Given the description of an element on the screen output the (x, y) to click on. 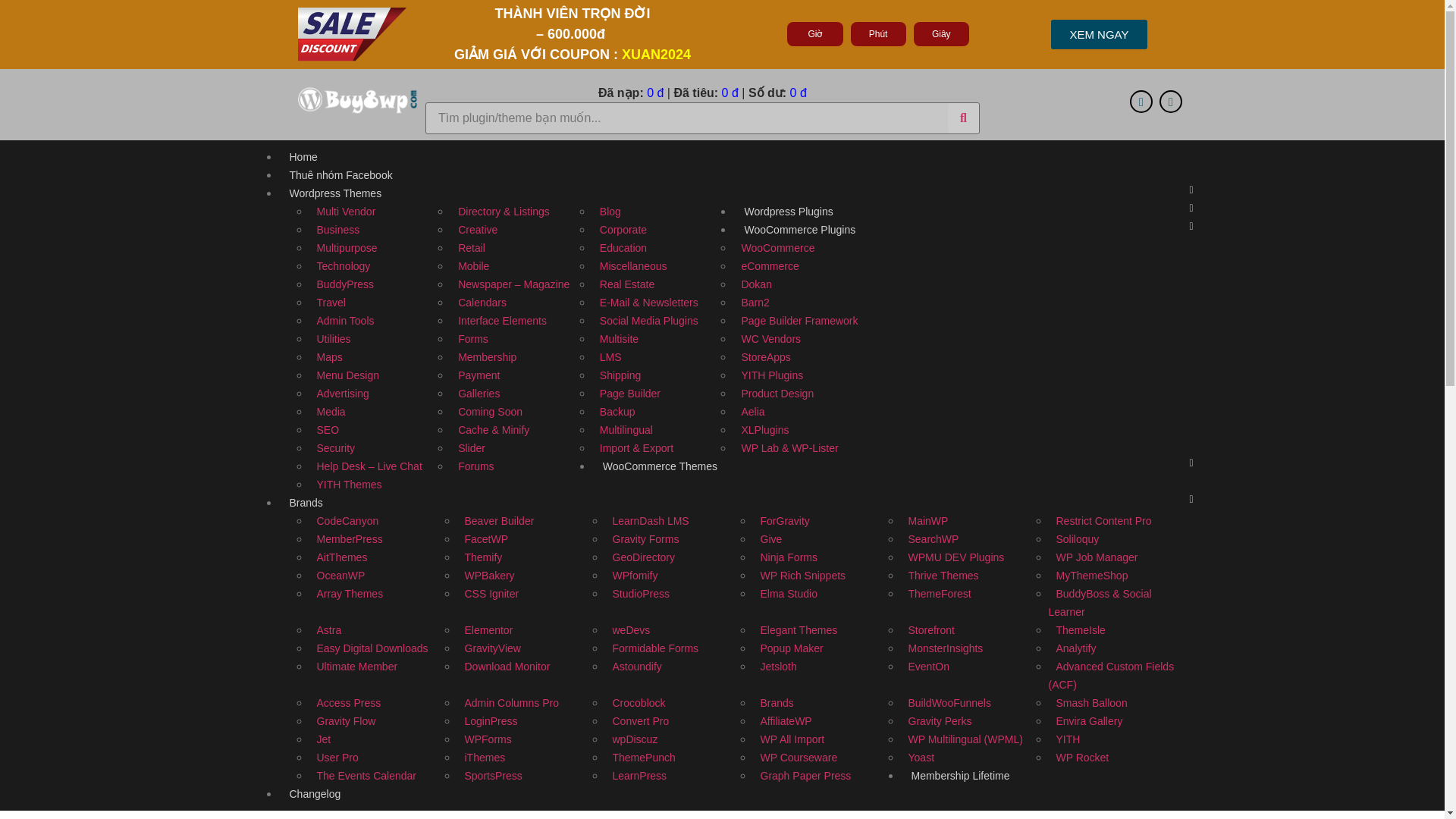
Blog (610, 210)
Mobile (472, 265)
Wordpress Themes (336, 193)
Miscellaneous (633, 265)
Creative (477, 229)
Multi Vendor (346, 210)
Wordpress Plugins (788, 211)
Business (338, 229)
Wordpress Themes (336, 193)
Multipurpose (346, 247)
Social Media Plugins (649, 320)
Retail (471, 247)
Maps (329, 356)
Newspaper - Magazine (512, 283)
Creative (477, 229)
